Given the description of an element on the screen output the (x, y) to click on. 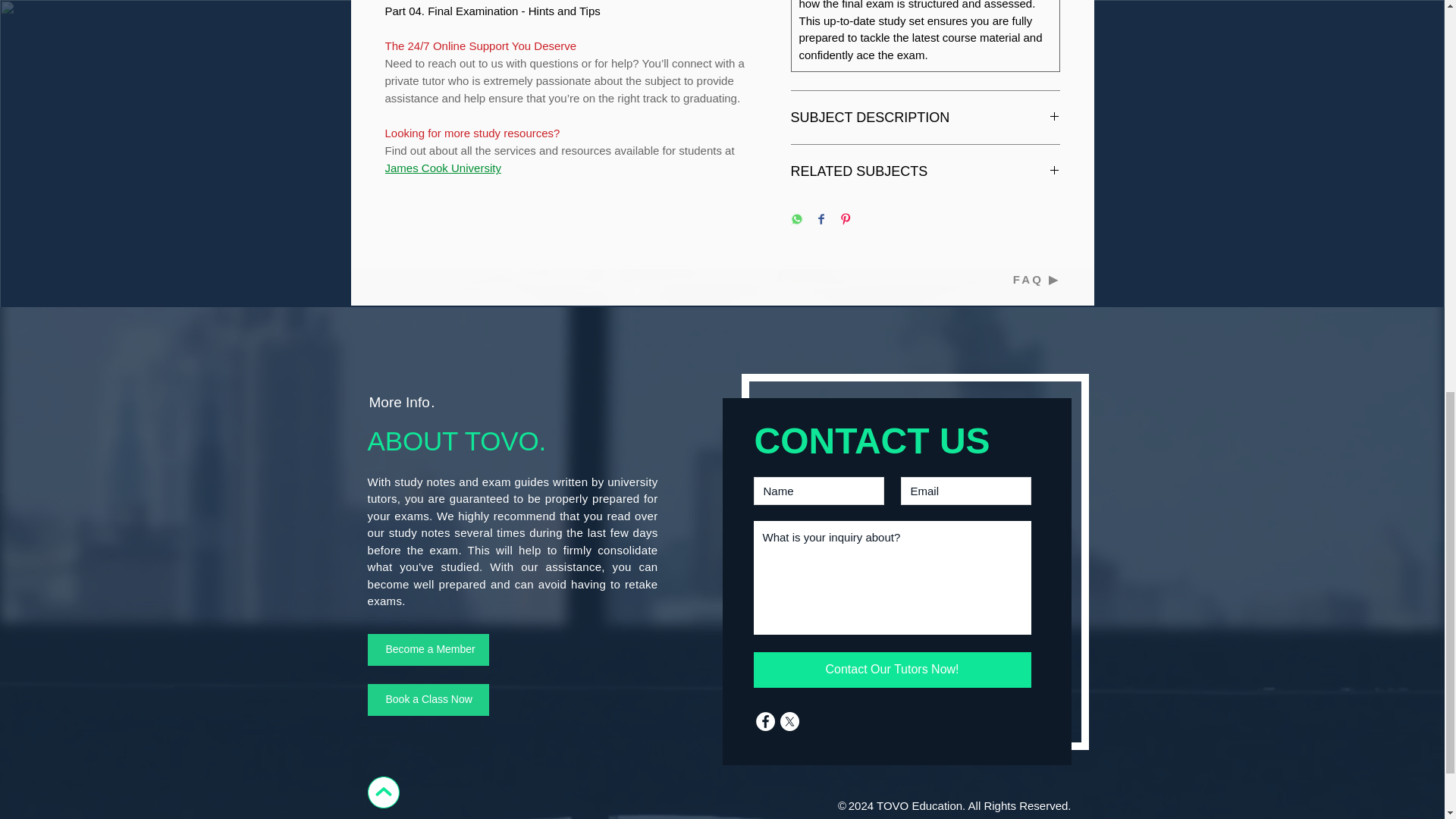
James Cook University (442, 167)
Become a Member (426, 649)
SUBJECT DESCRIPTION (924, 117)
Book a Class Now (426, 699)
RELATED SUBJECTS (924, 170)
Contact Our Tutors Now! (892, 669)
